Given the description of an element on the screen output the (x, y) to click on. 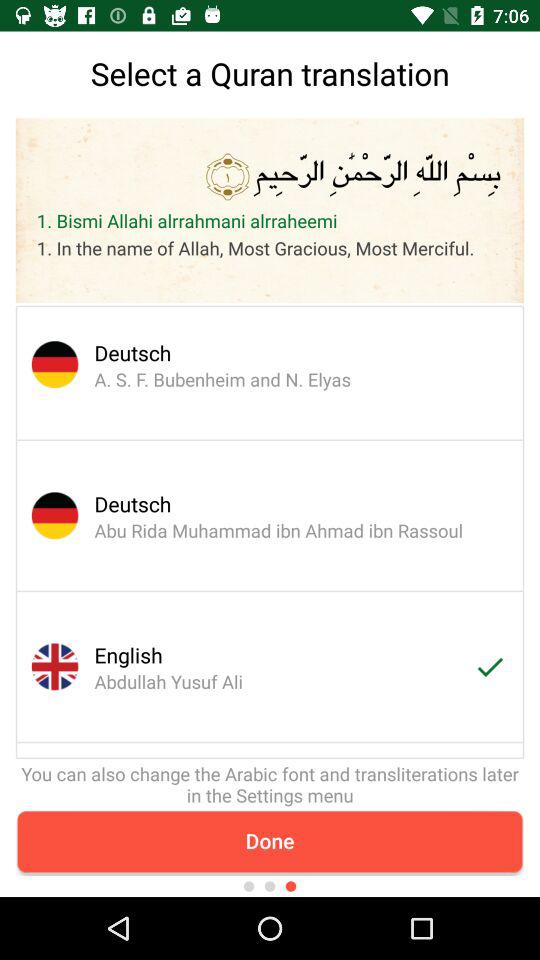
click on the circular image which has got german flag which is above english abdullah yusuf ali (47, 515)
click on the flag image icon to the left of the text english (47, 667)
